Given the description of an element on the screen output the (x, y) to click on. 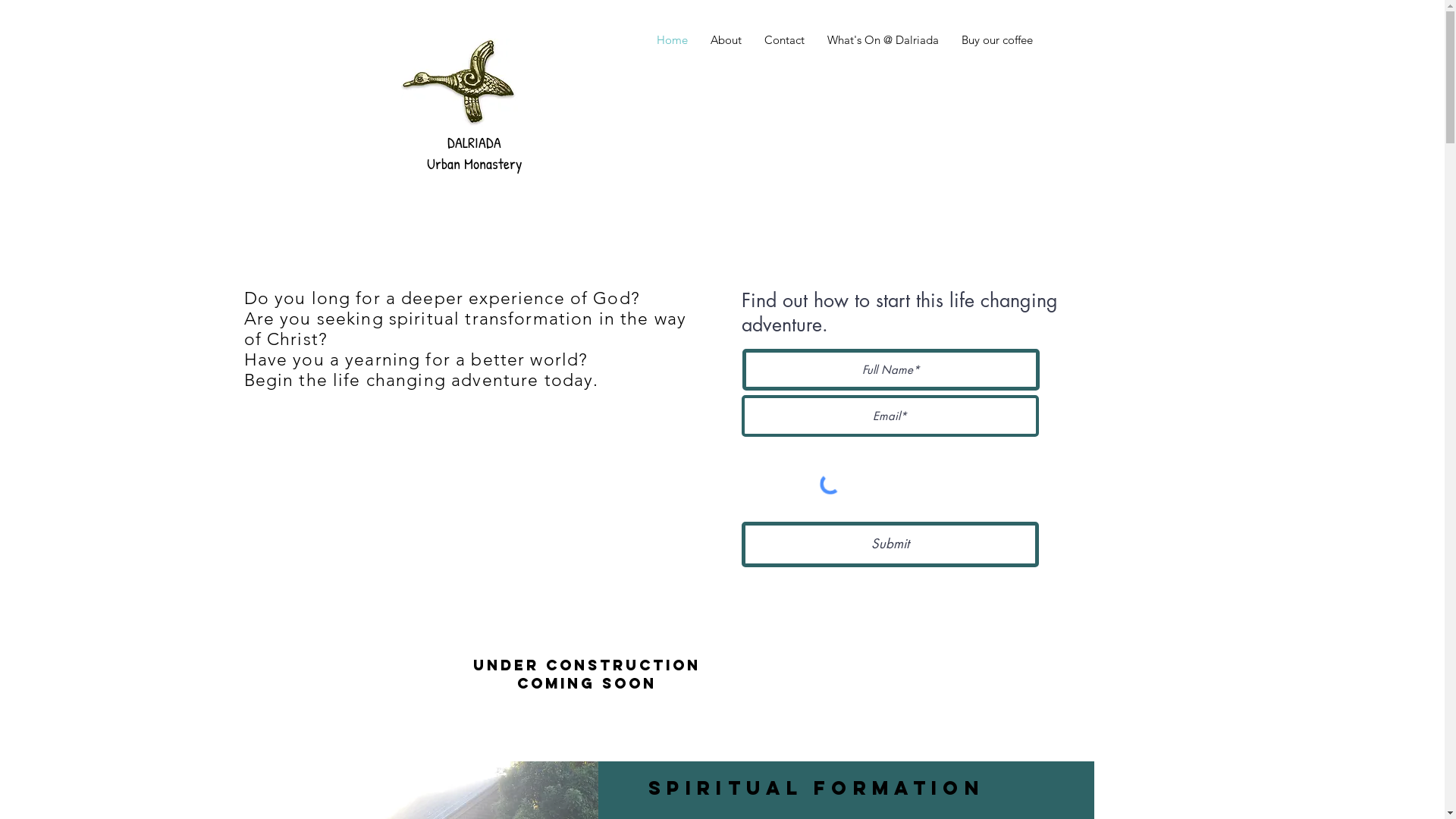
Home Element type: text (671, 40)
About Element type: text (726, 40)
Submit Element type: text (889, 544)
Buy our coffee Element type: text (996, 40)
What's On @ Dalriada Element type: text (882, 40)
Contact Element type: text (783, 40)
0FE77433-17FF-48B8-BA9D-8CDCC47896B5-295 Element type: hover (458, 82)
